Given the description of an element on the screen output the (x, y) to click on. 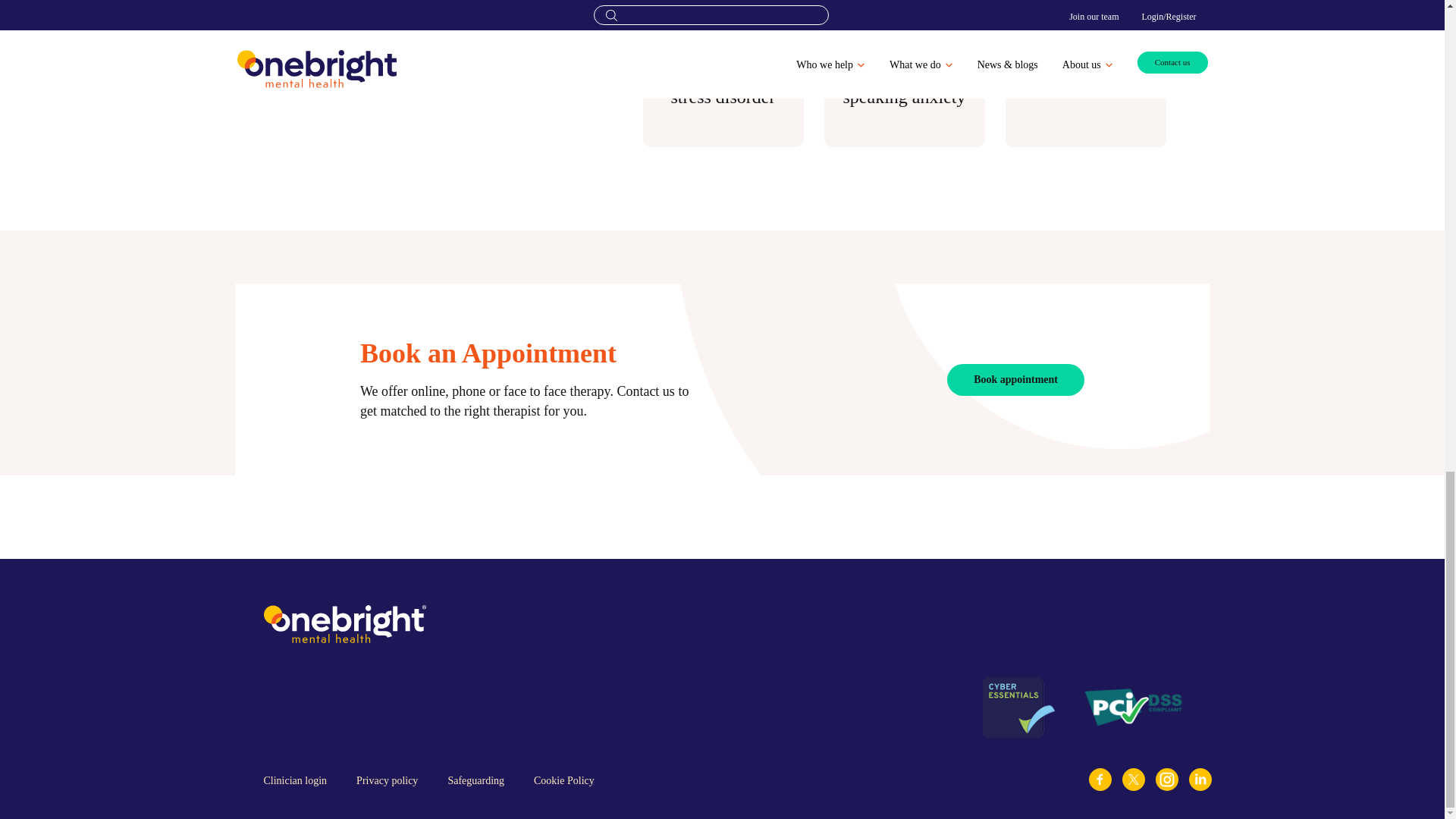
Onebright (344, 623)
Book appointment (1015, 379)
Work depression (1086, 85)
Phobias (904, 2)
Anxiety (723, 2)
Post traumatic stress disorder (723, 85)
Work and public speaking anxiety (904, 85)
Panic attacks (1086, 2)
